Given the description of an element on the screen output the (x, y) to click on. 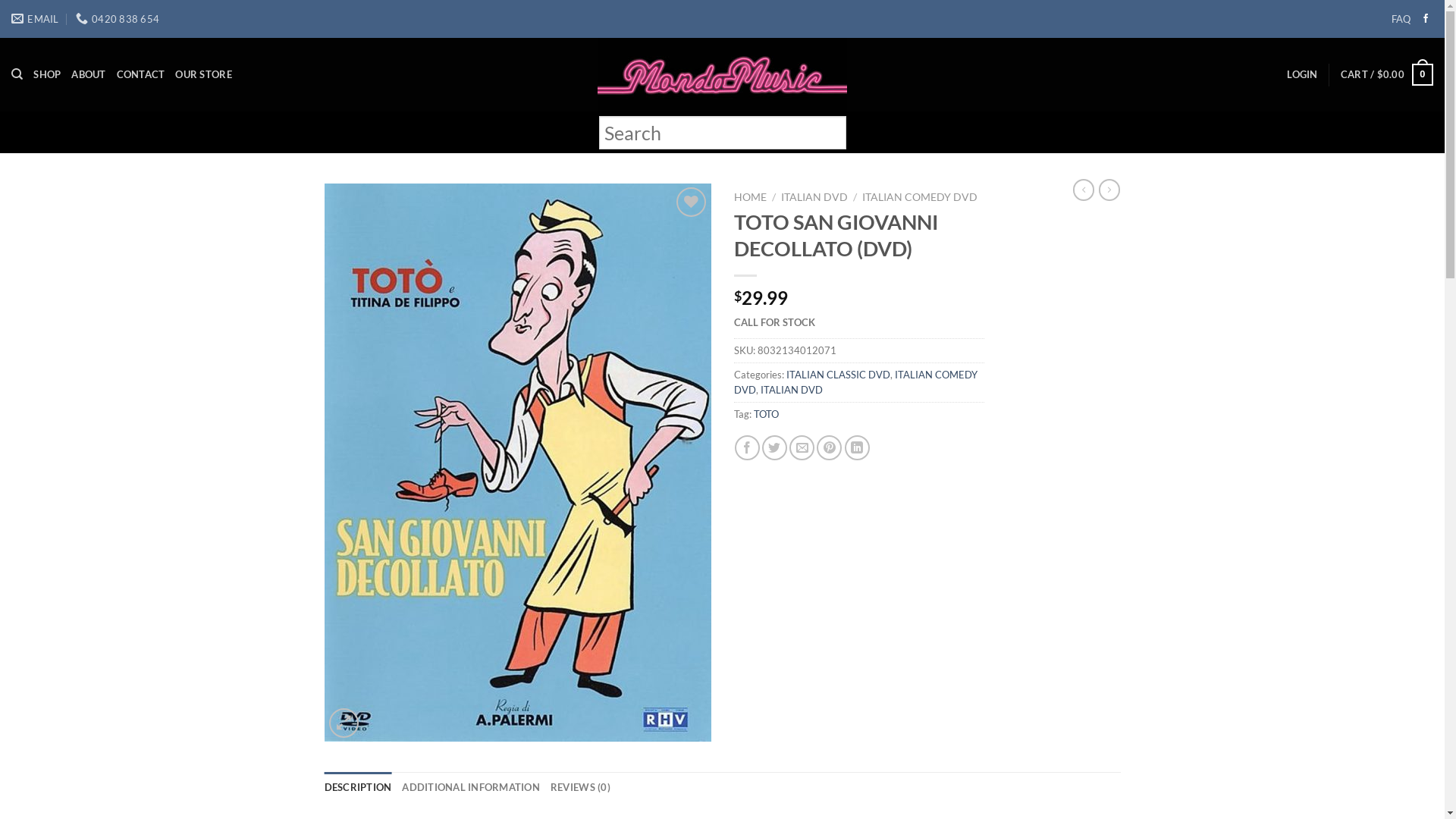
ITALIAN COMEDY DVD Element type: text (919, 197)
FAQ Element type: text (1400, 18)
ADDITIONAL INFORMATION Element type: text (470, 786)
HOME Element type: text (750, 197)
CART / $0.00
0 Element type: text (1386, 74)
REVIEWS (0) Element type: text (580, 786)
ITALIAN CLASSIC DVD Element type: text (837, 374)
0420 838 654 Element type: text (117, 18)
ITALIAN COMEDY DVD Element type: text (855, 381)
TOTO Element type: text (765, 413)
OUR STORE Element type: text (203, 74)
ITALIAN DVD Element type: text (790, 389)
DESCRIPTION Element type: text (358, 786)
EMAIL Element type: text (35, 18)
LOGIN Element type: text (1301, 74)
CONTACT Element type: text (140, 74)
ITALIAN DVD Element type: text (814, 197)
ABOUT Element type: text (88, 74)
SHOP Element type: text (46, 74)
